Given the description of an element on the screen output the (x, y) to click on. 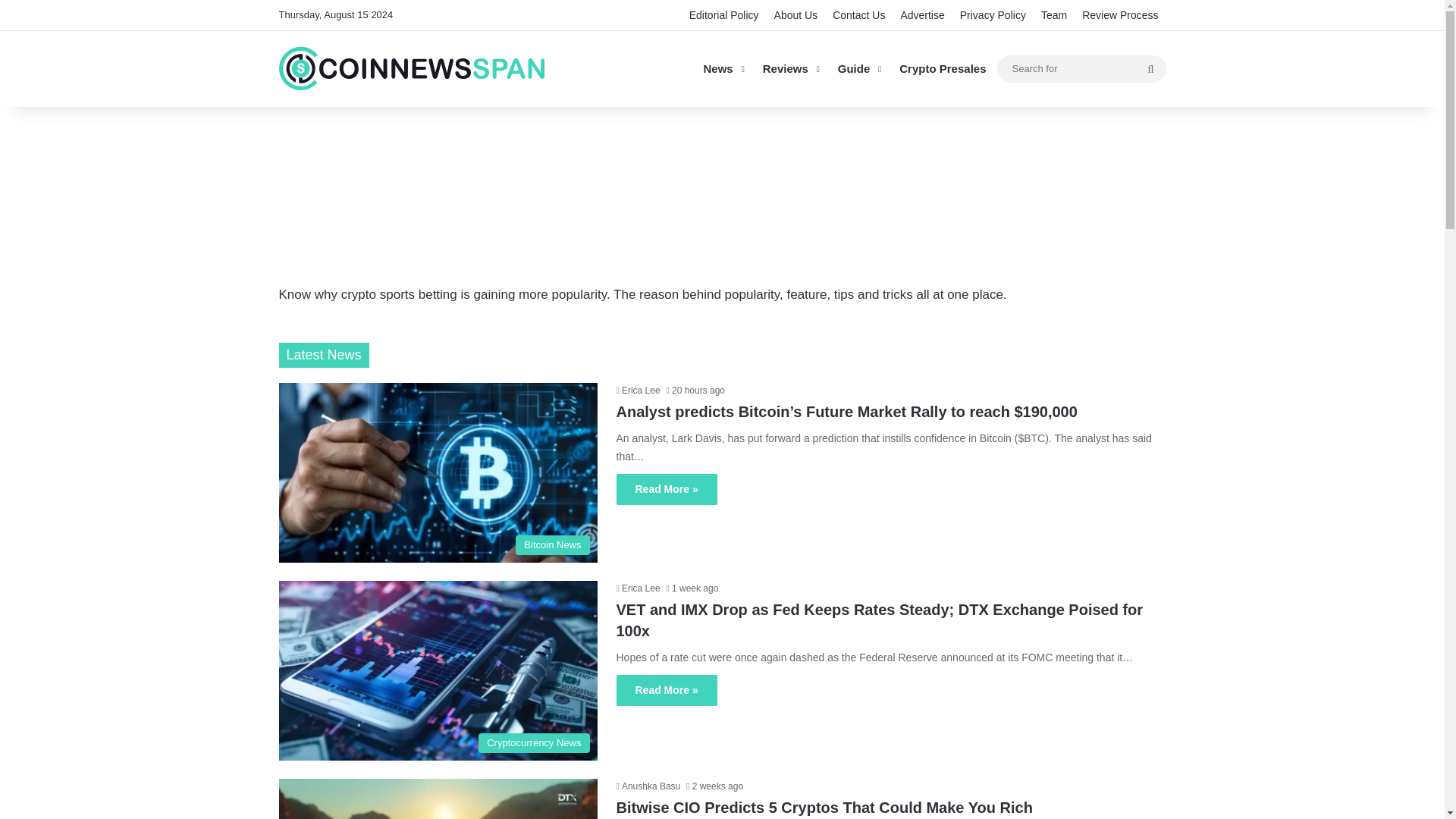
Editorial Policy (724, 15)
Team (1053, 15)
About Us (796, 15)
Privacy Policy (992, 15)
CoinNewsSpan (411, 68)
Review Process (1120, 15)
Search for (1080, 67)
Anushka Basu (647, 786)
Erica Lee (637, 588)
Contact Us (858, 15)
